Given the description of an element on the screen output the (x, y) to click on. 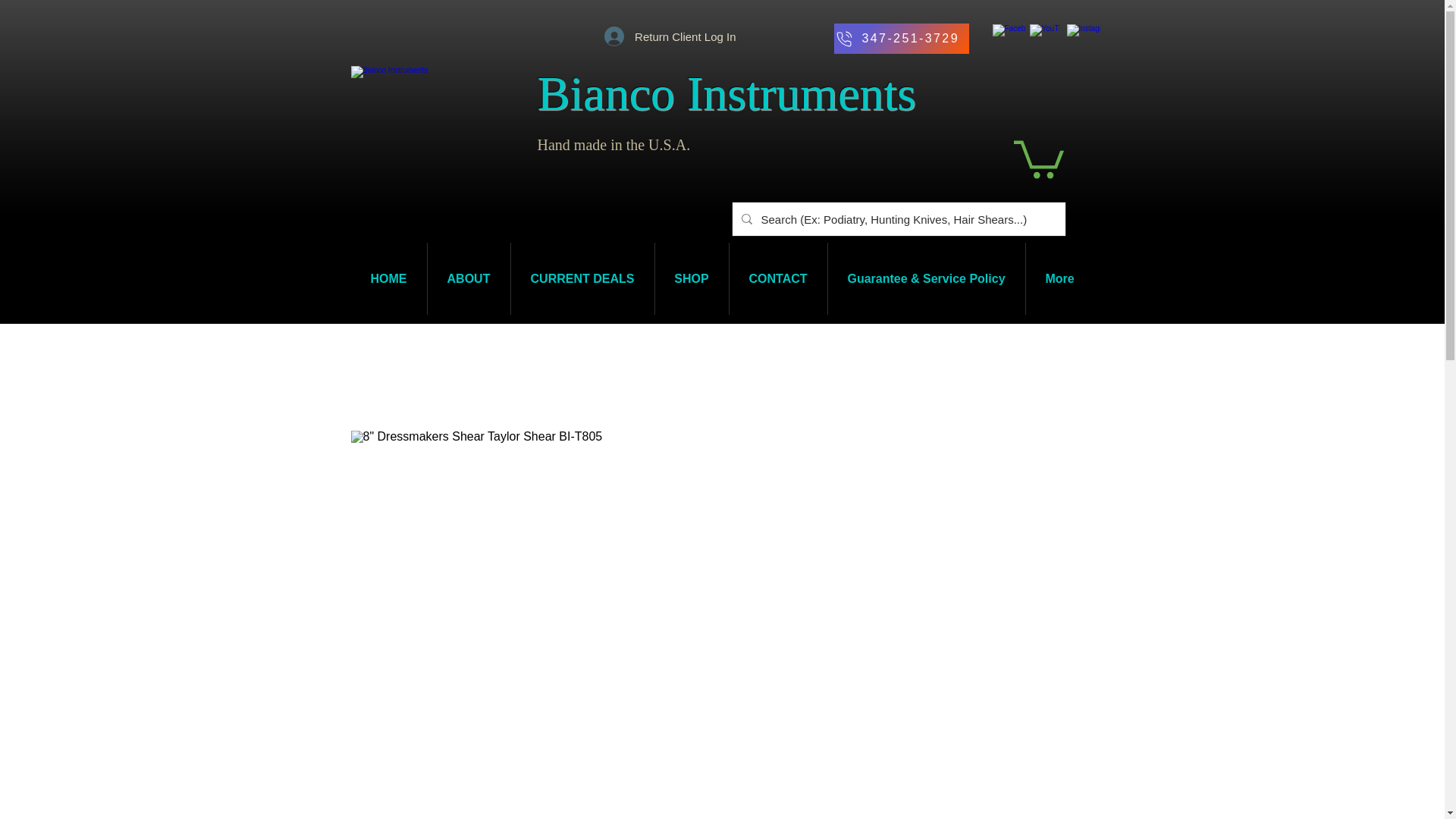
ABOUT (469, 278)
SHOP (692, 278)
347-251-3729 (901, 38)
Return Client Log In (669, 36)
CONTACT (778, 278)
CURRENT DEALS (582, 278)
HOME (388, 278)
  B (540, 93)
